Given the description of an element on the screen output the (x, y) to click on. 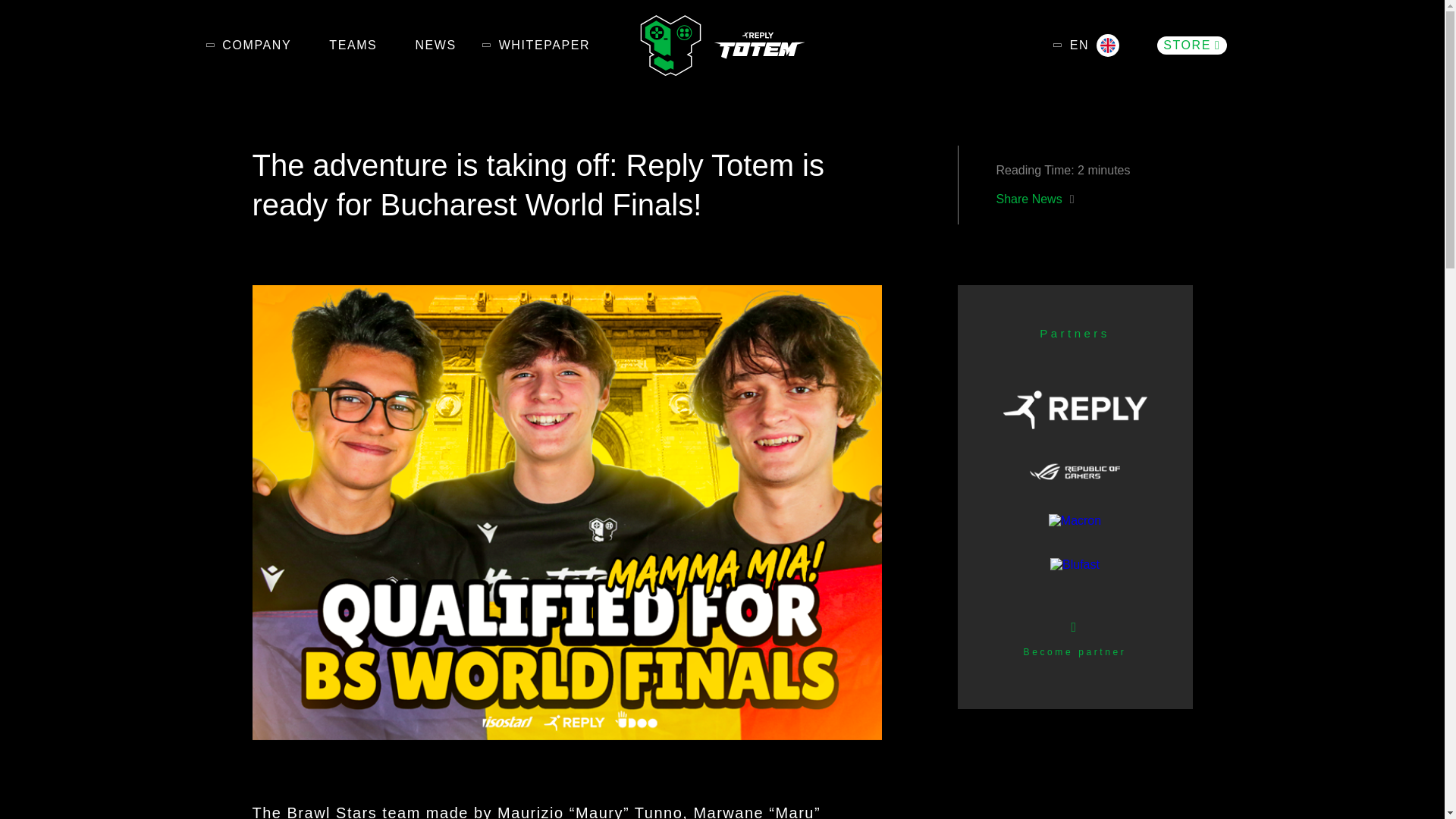
EN (1094, 45)
Language (1094, 45)
Become partner (1075, 664)
STORE (1191, 45)
TEAMS (353, 45)
home (722, 45)
NEWS (434, 45)
News (434, 45)
Company (256, 45)
COMPANY (256, 45)
